Given the description of an element on the screen output the (x, y) to click on. 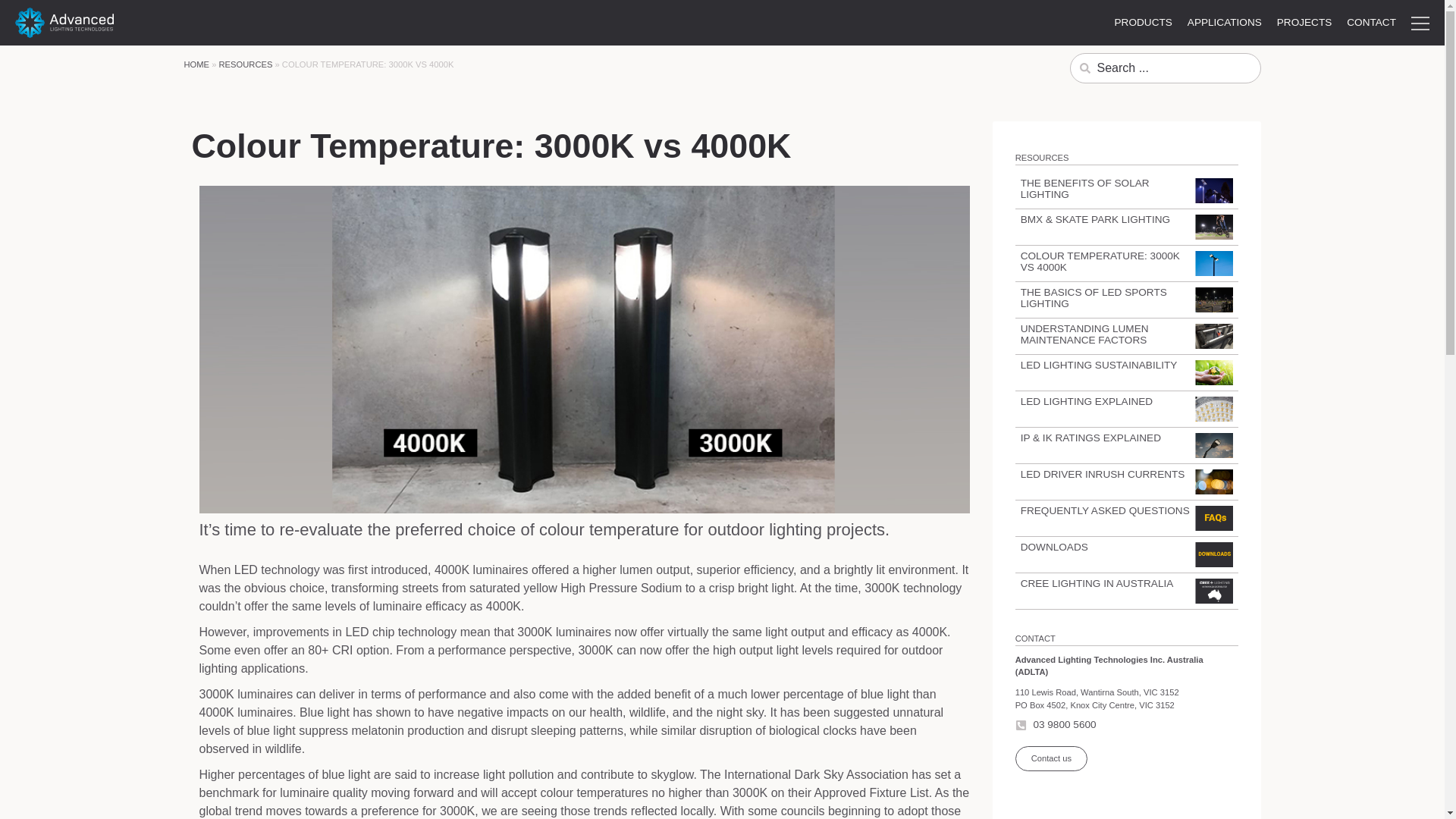
LED LIGHTING EXPLAINED (1086, 401)
FREQUENTLY ASKED QUESTIONS (1104, 510)
LED DRIVER INRUSH CURRENTS (1102, 473)
DOWNLOADS (1053, 546)
HOME (196, 63)
CONTACT (1371, 22)
RESOURCES (246, 63)
PROJECTS (1304, 22)
COLOUR TEMPERATURE: 3000K VS 4000K (1099, 261)
PRODUCTS (1142, 22)
